Given the description of an element on the screen output the (x, y) to click on. 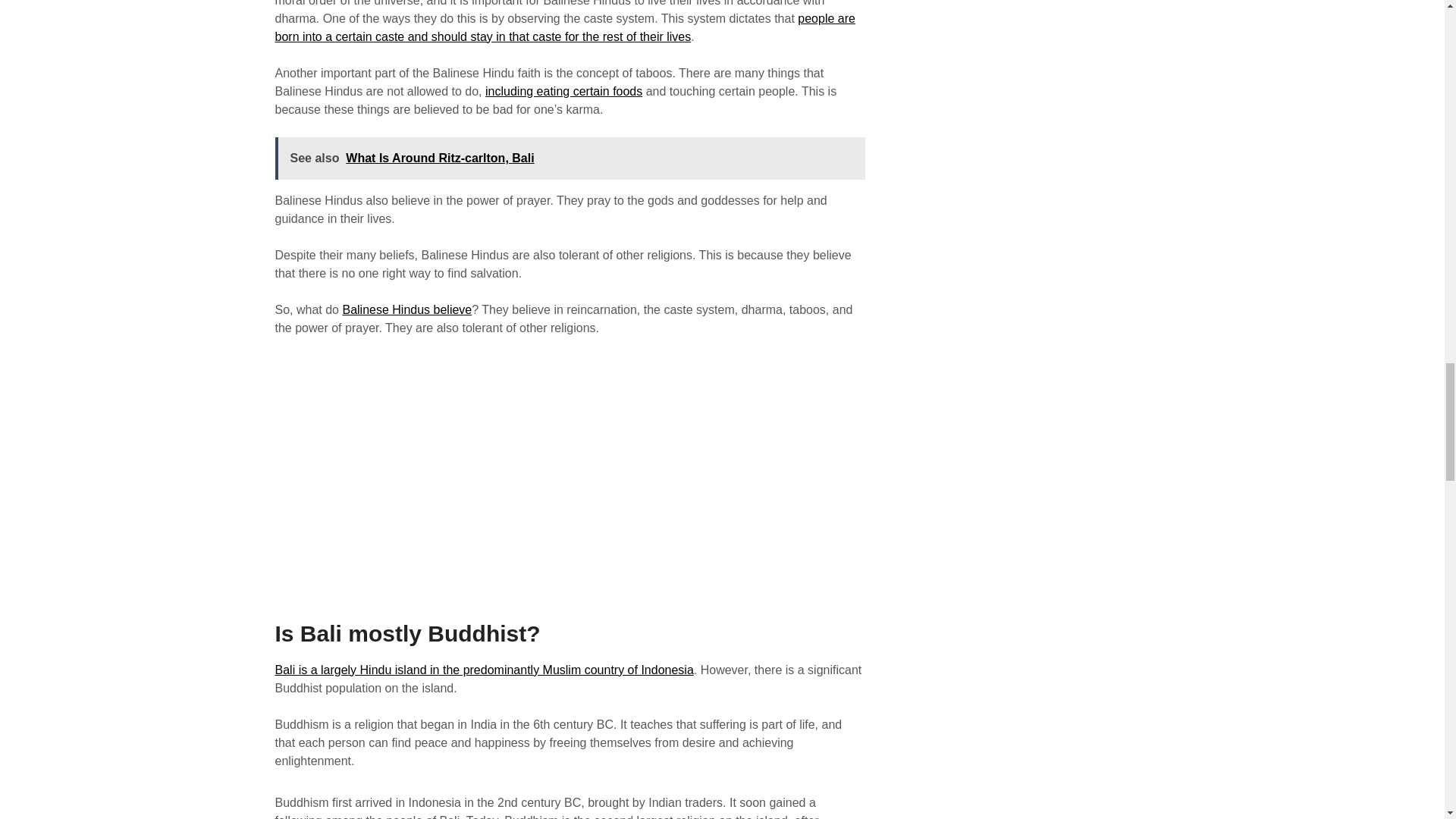
including eating certain foods (563, 91)
Balinese Hindus believe (406, 309)
See also  What Is Around Ritz-carlton, Bali (569, 157)
